Given the description of an element on the screen output the (x, y) to click on. 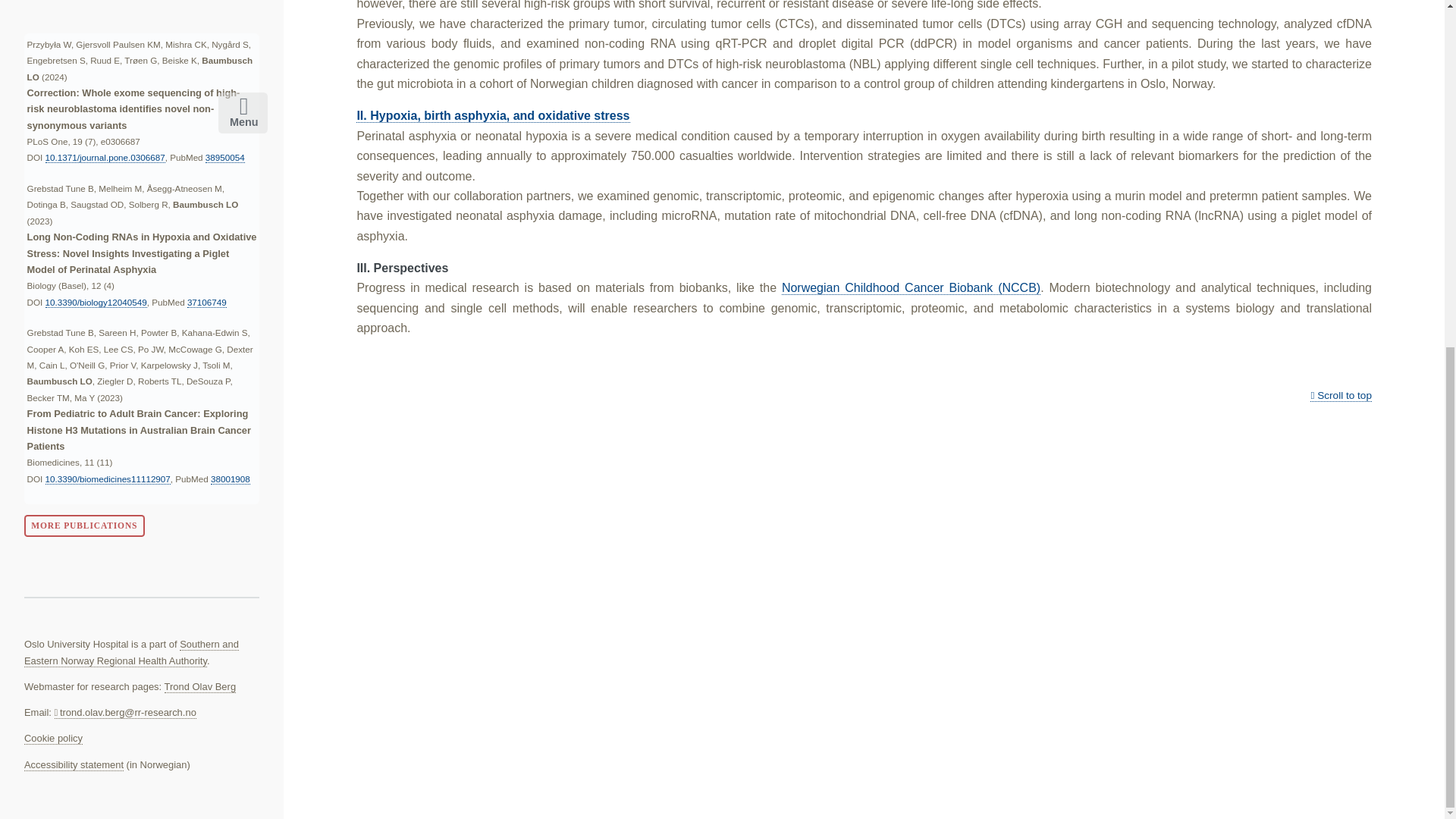
Southern and Eastern Norway Regional Health Authority (131, 652)
38001908 (230, 479)
MORE PUBLICATIONS (84, 525)
II. Hypoxia, birth asphyxia, and oxidative stress (492, 115)
38950054 (224, 157)
37106749 (207, 302)
Trond Olav Berg (199, 686)
Scroll to top (1340, 395)
